Given the description of an element on the screen output the (x, y) to click on. 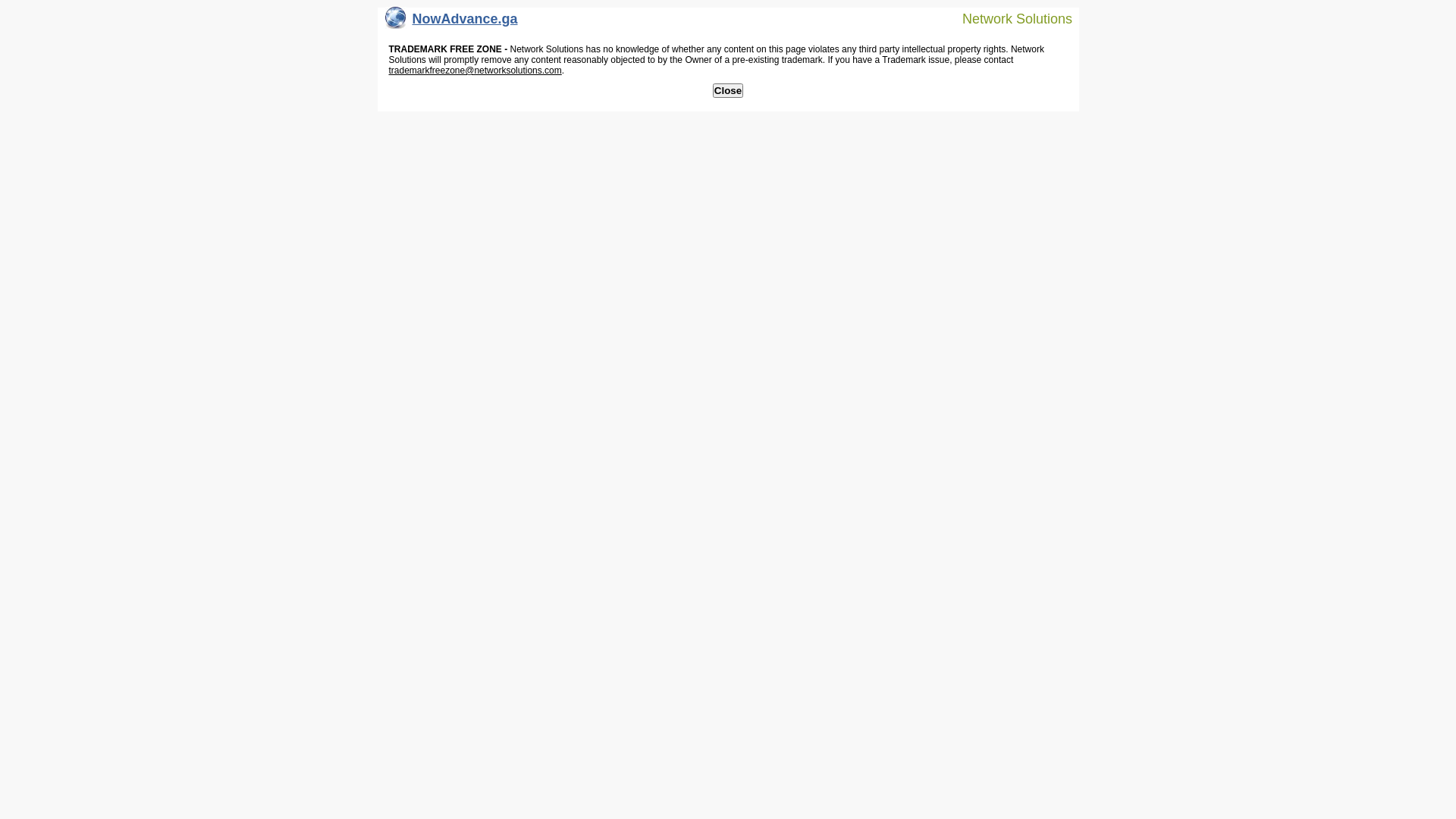
Close Element type: text (727, 90)
NowAdvance.ga Element type: text (451, 21)
Network Solutions Element type: text (1007, 17)
trademarkfreezone@networksolutions.com Element type: text (474, 70)
